Given the description of an element on the screen output the (x, y) to click on. 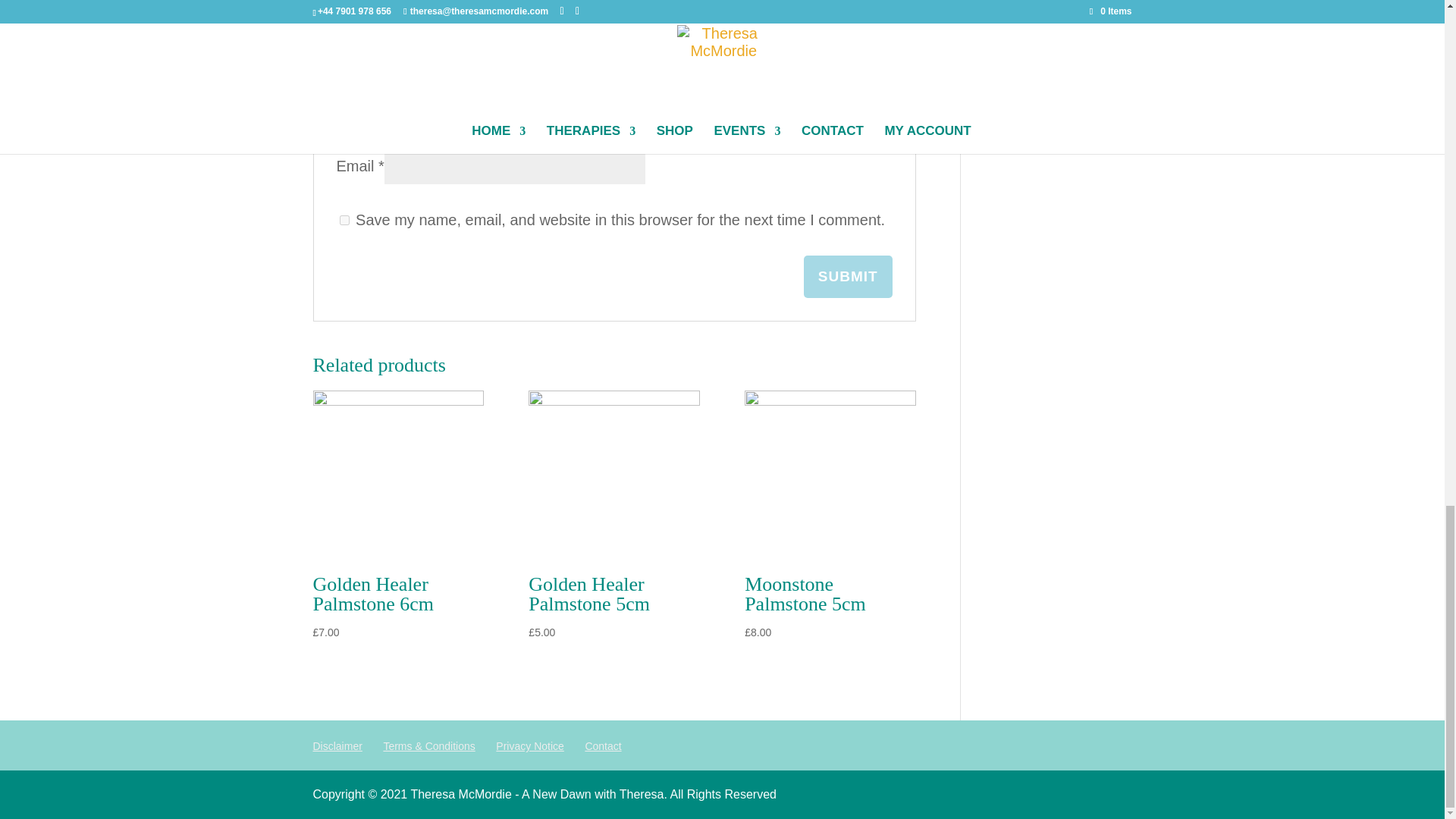
yes (344, 220)
Submit (847, 276)
Submit (847, 276)
